Given the description of an element on the screen output the (x, y) to click on. 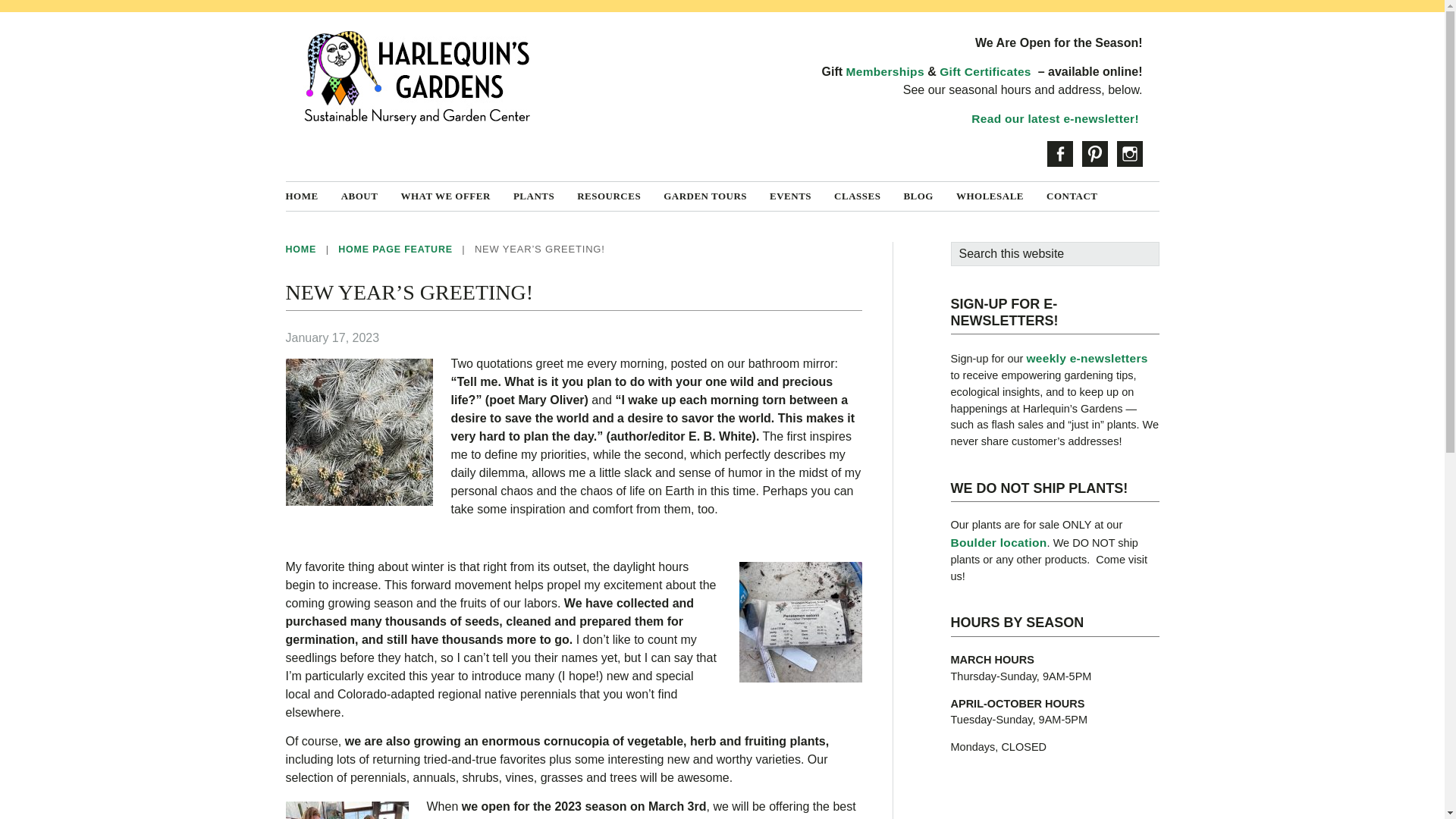
Instagram (1128, 153)
HOME (312, 195)
Pinterest (1093, 153)
Gift Certificates (984, 71)
Facebook (1058, 153)
Instagram (1128, 153)
Facebook (1058, 153)
